Given the description of an element on the screen output the (x, y) to click on. 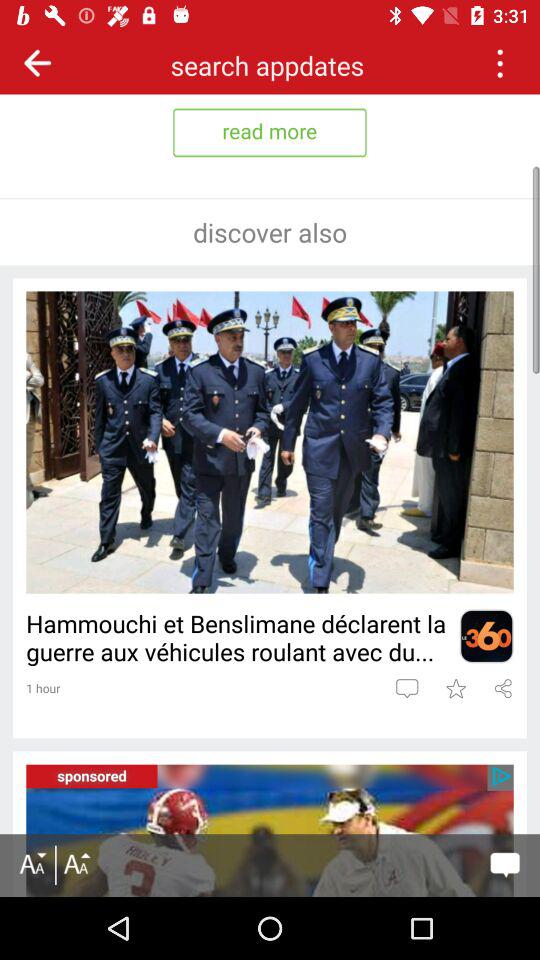
select the options icon which is on the top right side (499, 62)
